Given the description of an element on the screen output the (x, y) to click on. 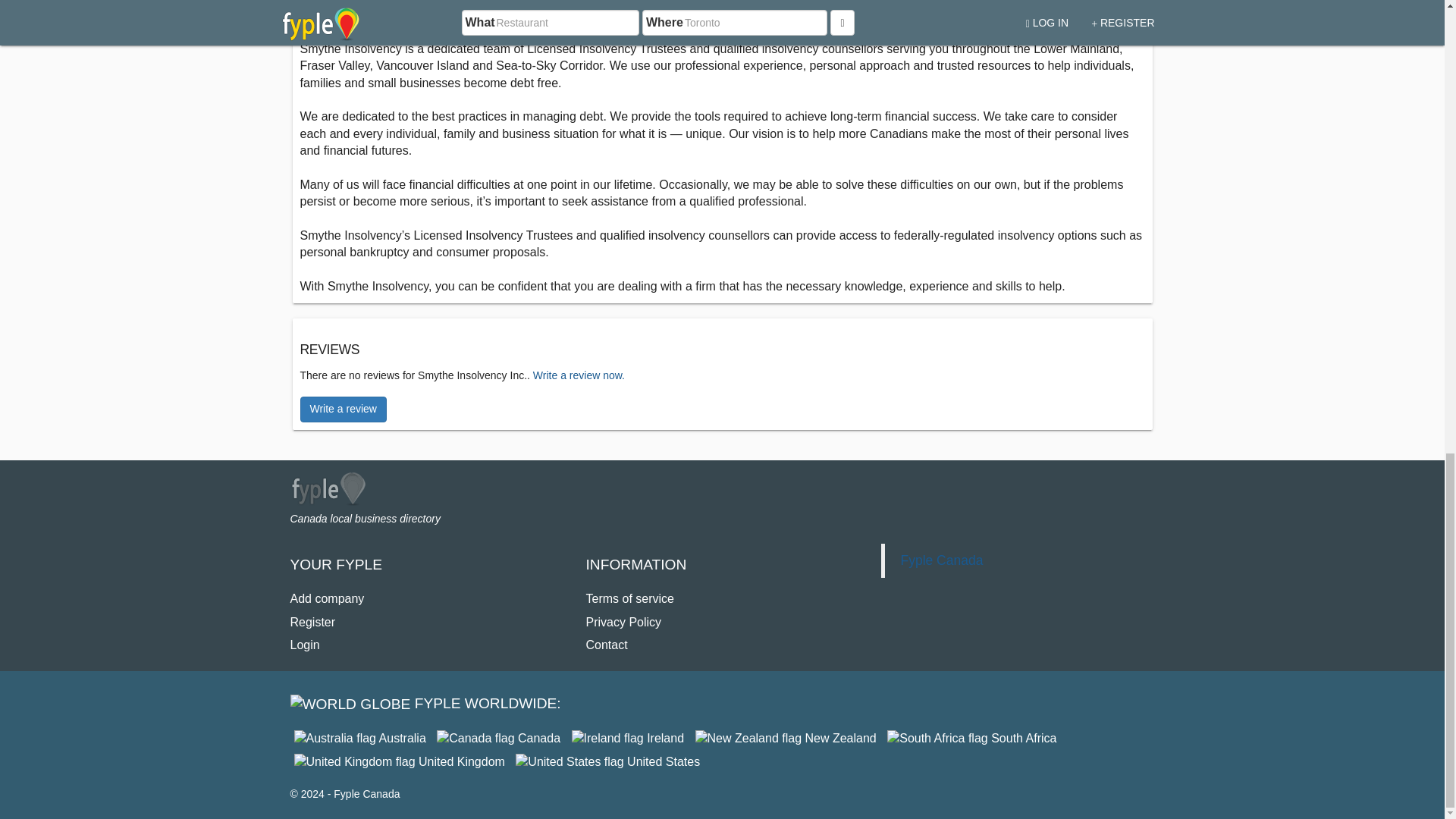
Login (303, 644)
Privacy Policy (623, 621)
Fyple United States (607, 761)
Write a review now. (578, 375)
Fyple Republic of Ireland (628, 738)
Terms of service (628, 598)
Fyple Canada (498, 738)
Register (311, 621)
Add company (326, 598)
Australia (360, 738)
